Given the description of an element on the screen output the (x, y) to click on. 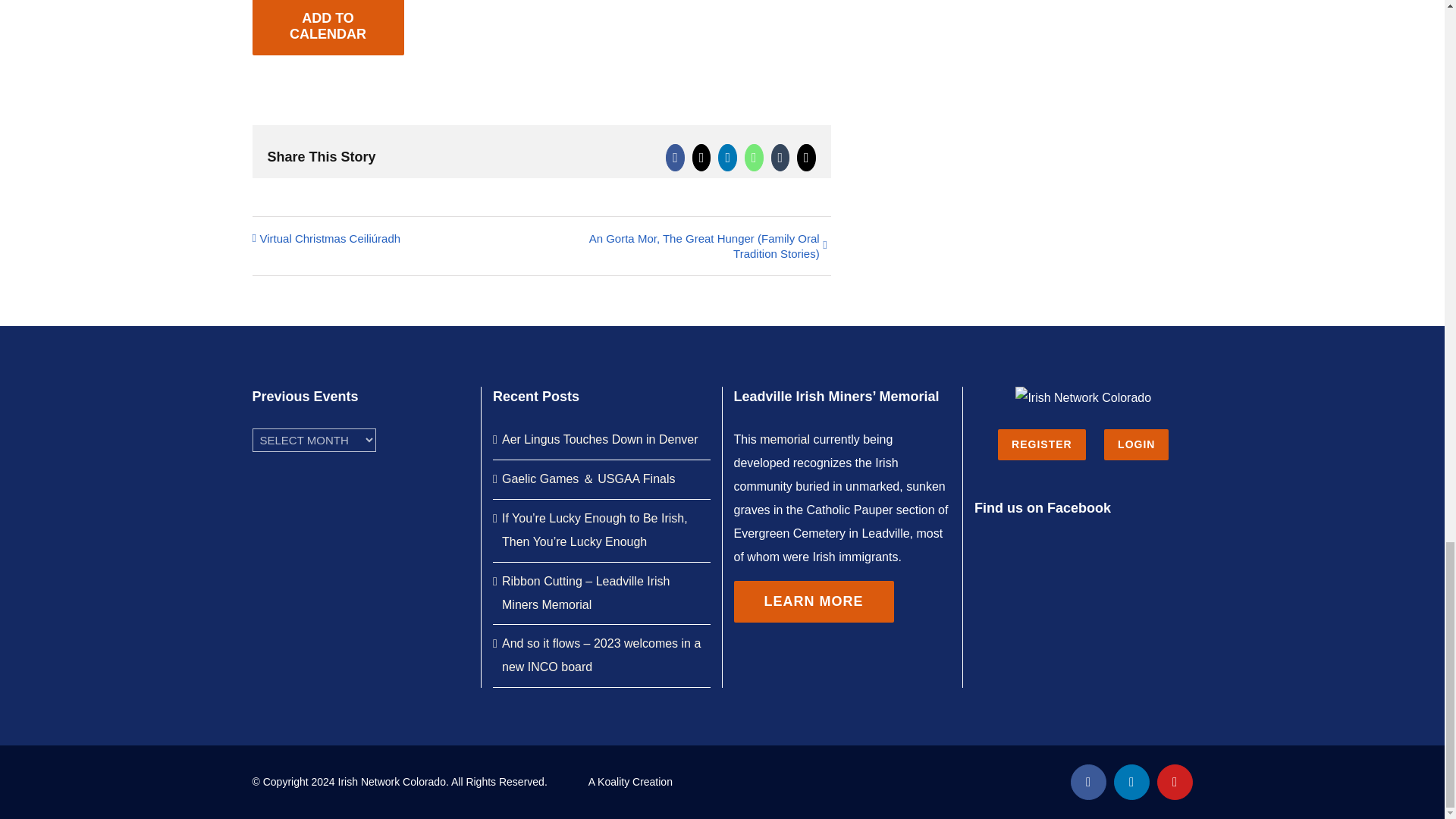
LEARN MORE (813, 601)
A Koality Creation (630, 781)
Facebook (1088, 782)
YouTube (1174, 782)
REGISTER (1041, 444)
memorial (784, 439)
Facebook (1088, 782)
Aer Lingus Touches Down in Denver (602, 440)
LinkedIn (1130, 782)
LinkedIn (1130, 782)
